Given the description of an element on the screen output the (x, y) to click on. 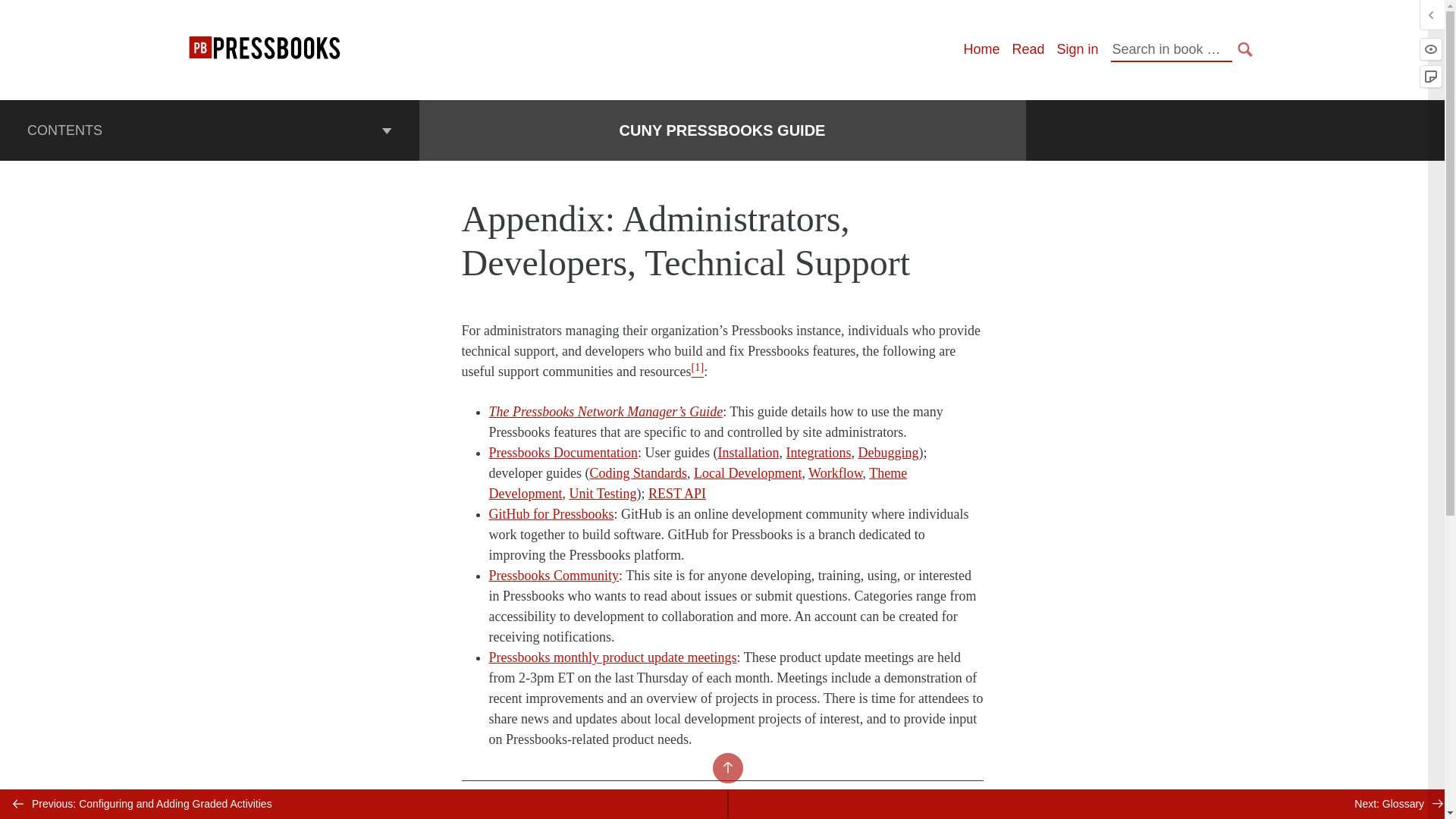
Unit Testing (602, 493)
Home (980, 48)
Integrations (818, 452)
Workflow (834, 473)
BACK TO TOP (727, 767)
Appendix A: Administrators, Developers, Technical Support (797, 816)
Pressbooks monthly product update meetings (611, 657)
Pressbooks Documentation (562, 452)
Local Development (748, 473)
Debugging (887, 452)
